Given the description of an element on the screen output the (x, y) to click on. 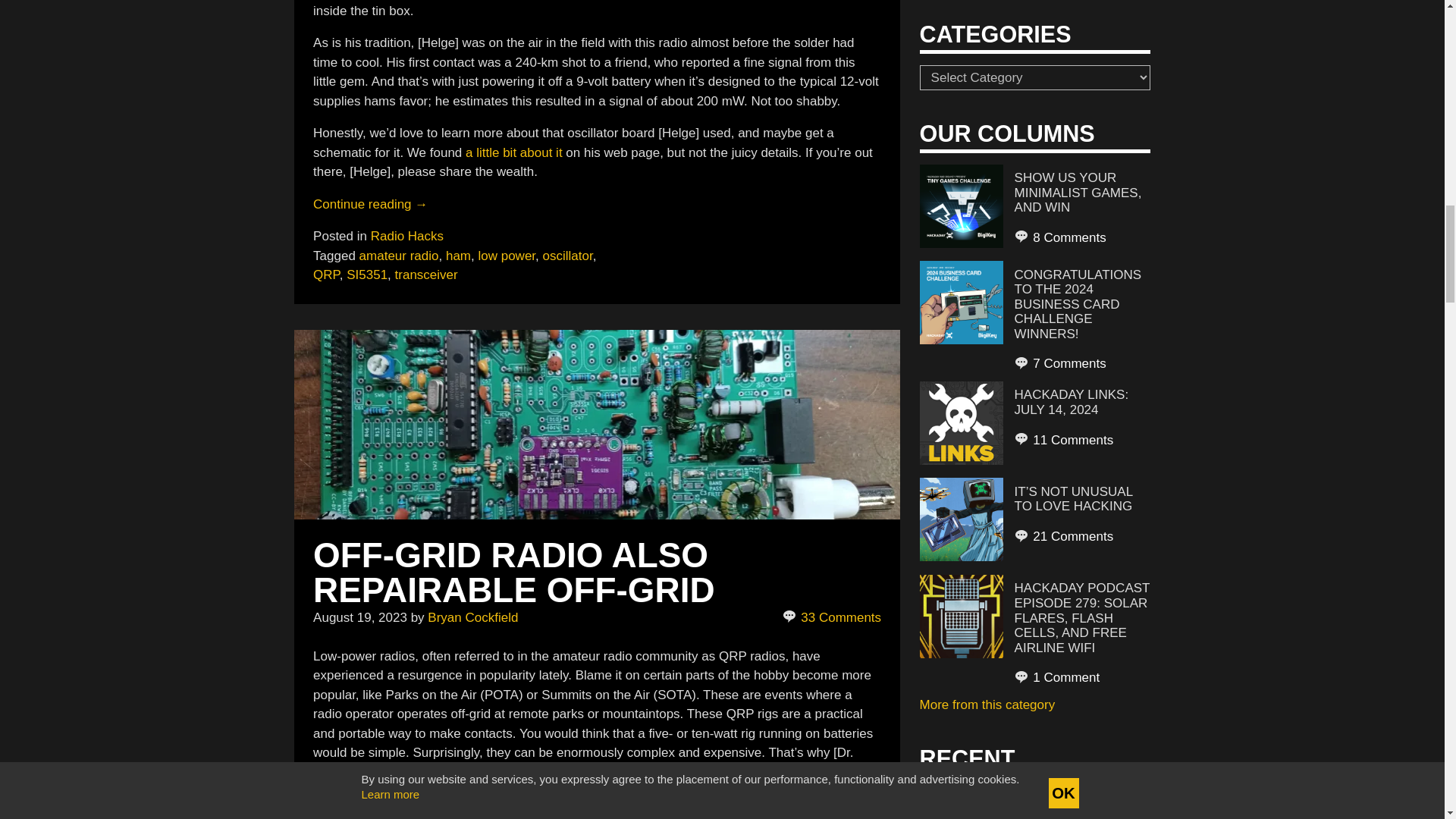
Posts by Bryan Cockfield (473, 617)
August 19, 2023 - 7:00 pm (360, 617)
